Given the description of an element on the screen output the (x, y) to click on. 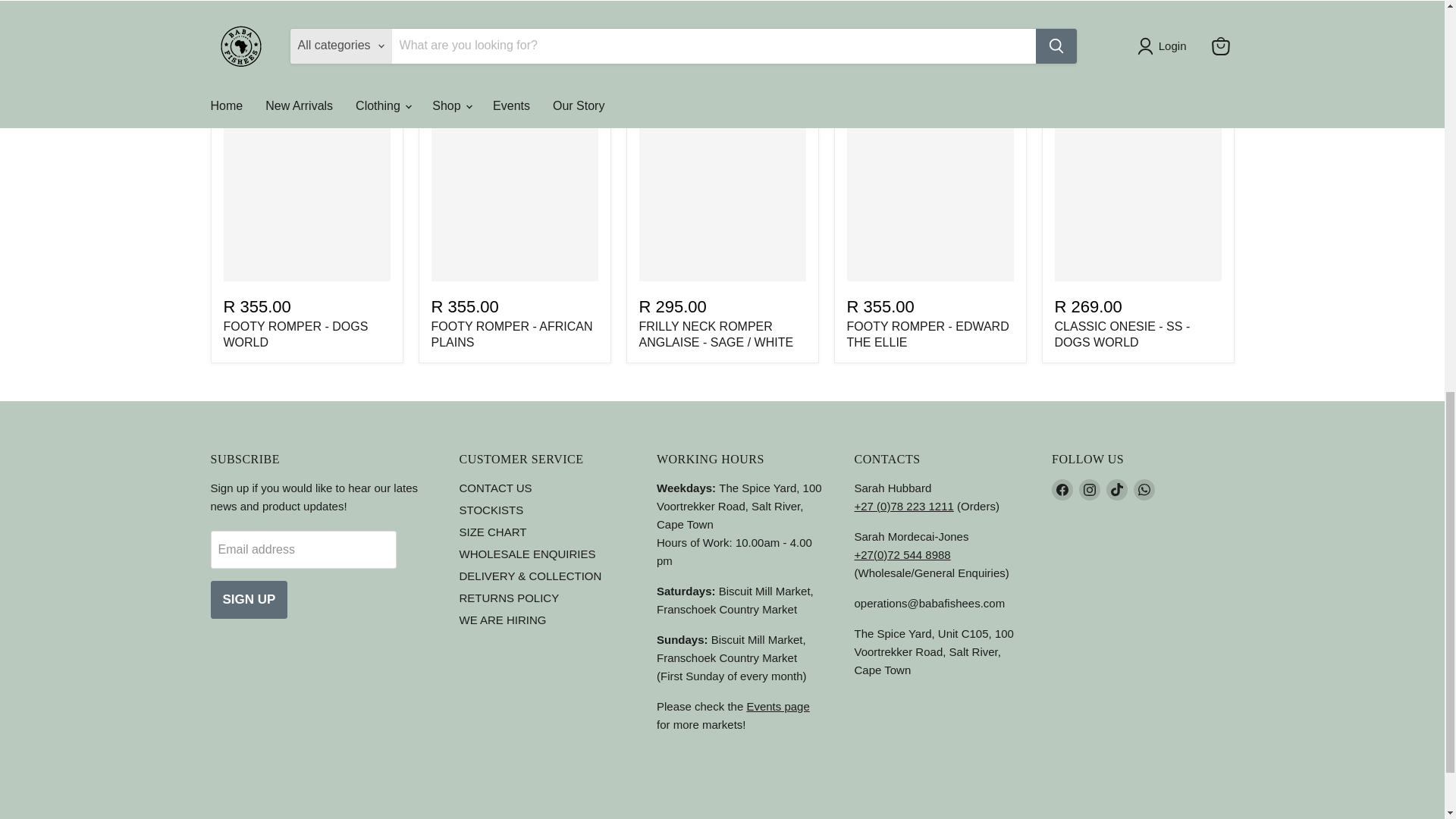
Instagram (1089, 489)
Facebook (1062, 489)
EVENTS CALENDAR (777, 706)
tel:0725448988 (901, 554)
WhatsApp (1144, 489)
TikTok (1116, 489)
tel:0782231211 (903, 505)
